Given the description of an element on the screen output the (x, y) to click on. 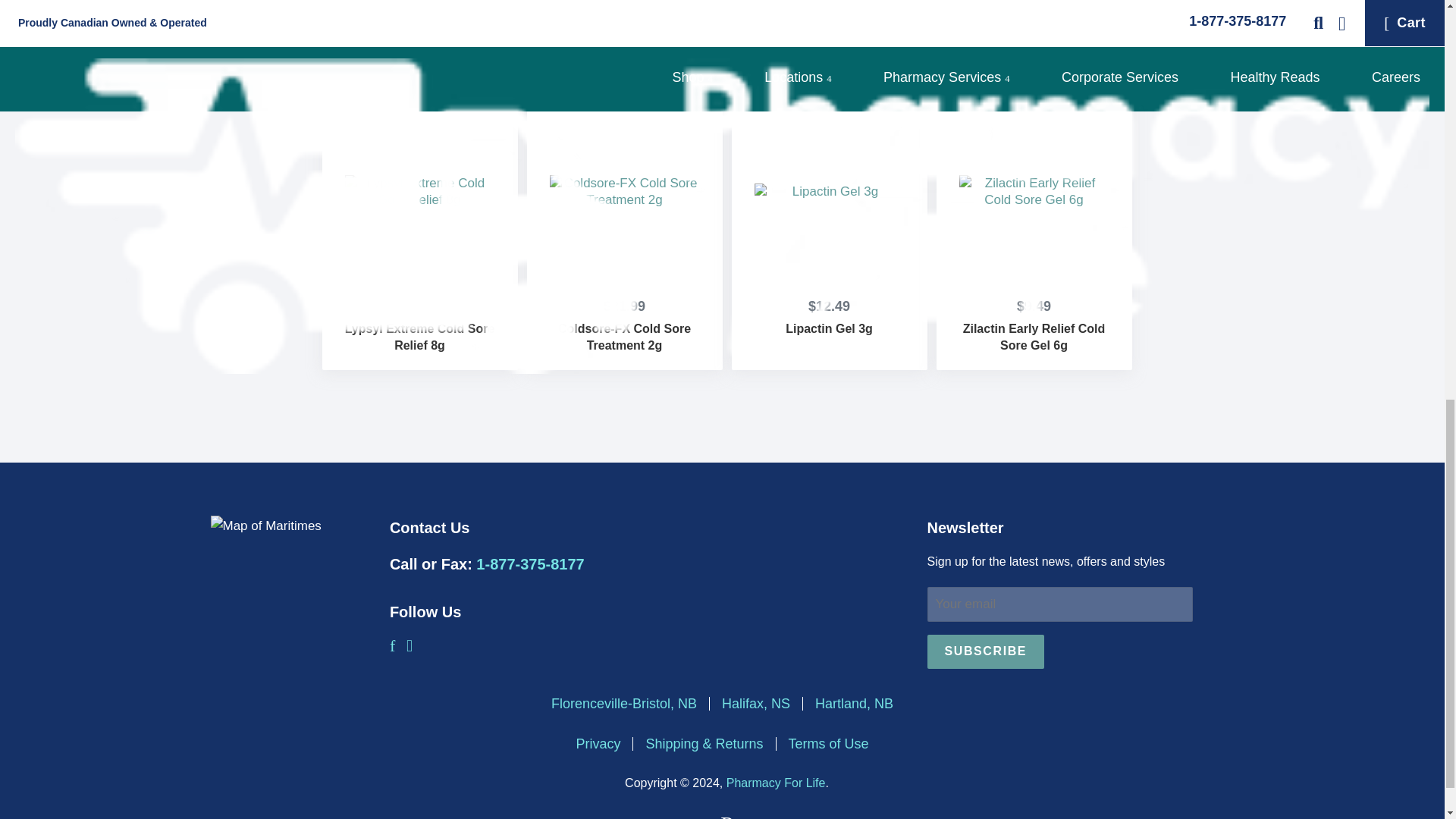
Subscribe (984, 651)
